Given the description of an element on the screen output the (x, y) to click on. 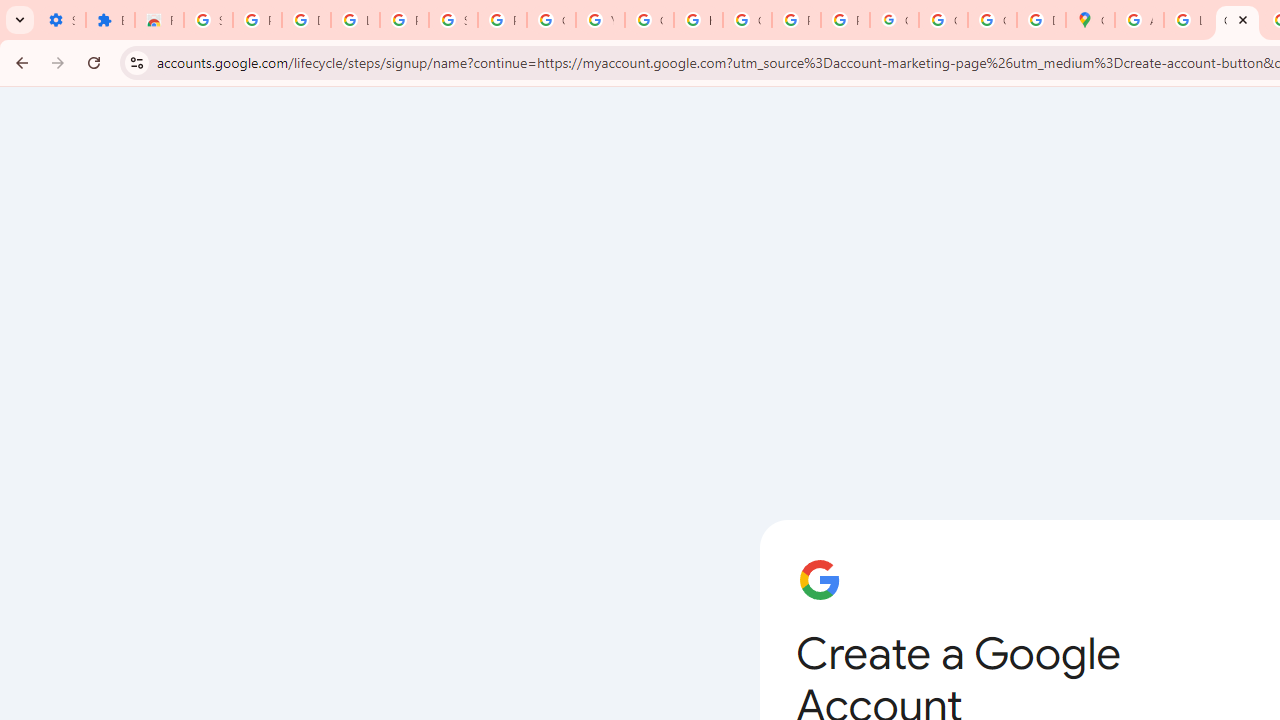
YouTube (600, 20)
Sign in - Google Accounts (452, 20)
Google Account (551, 20)
